Given the description of an element on the screen output the (x, y) to click on. 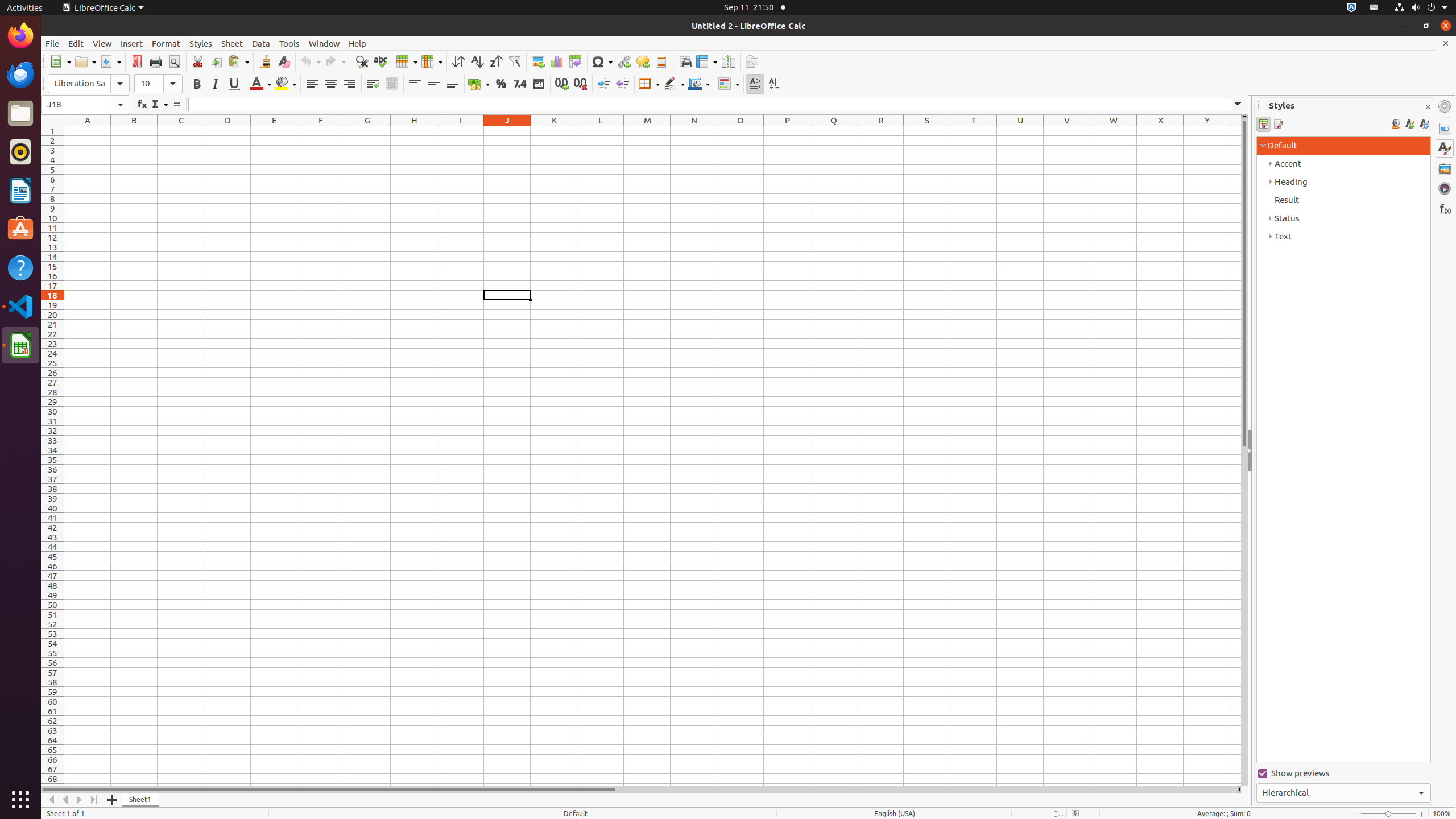
Align Bottom Element type: push-button (452, 83)
Border Color Element type: push-button (698, 83)
Undo Element type: push-button (309, 61)
Align Right Element type: push-button (349, 83)
